Given the description of an element on the screen output the (x, y) to click on. 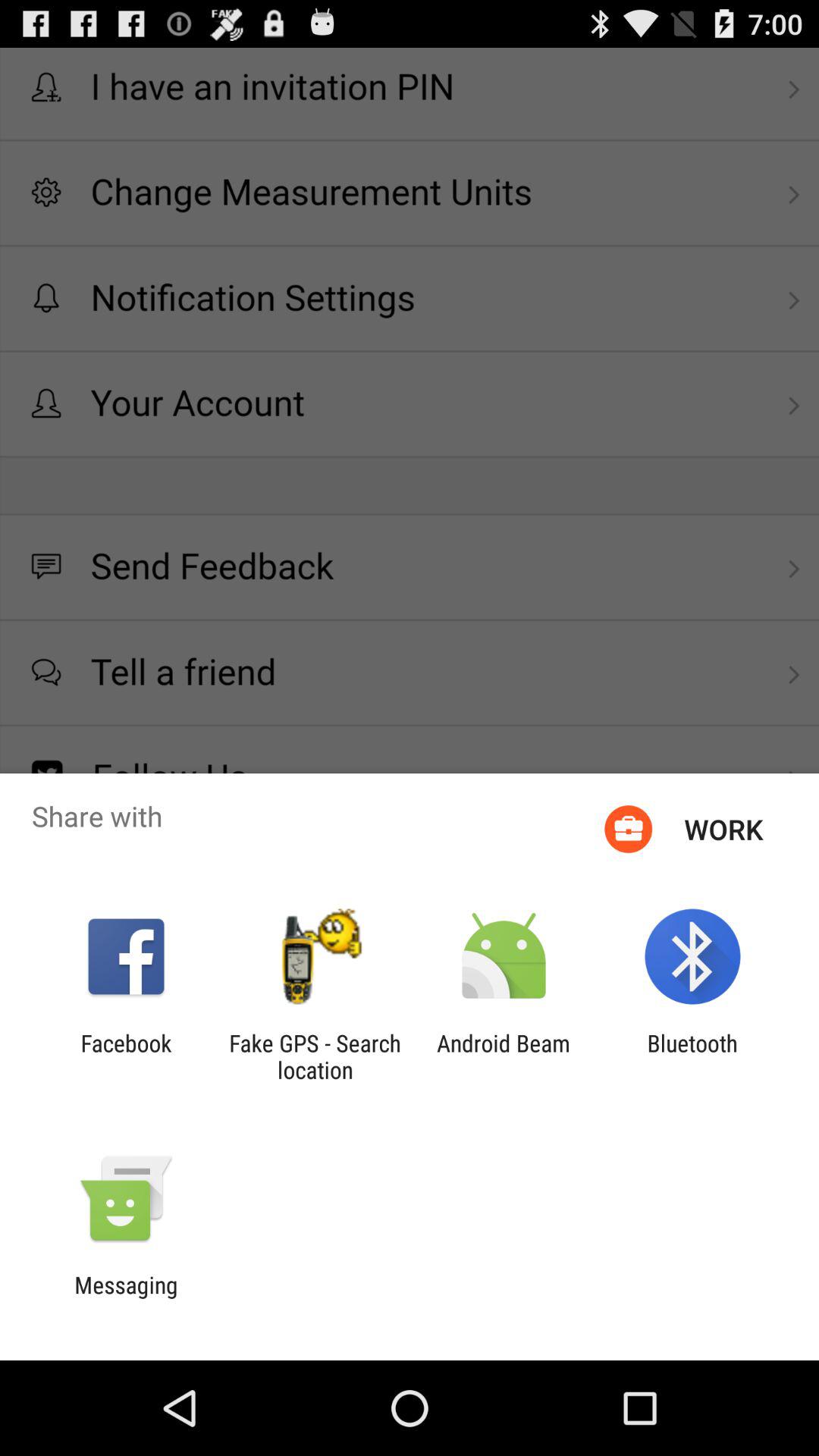
open item to the right of android beam item (692, 1056)
